Given the description of an element on the screen output the (x, y) to click on. 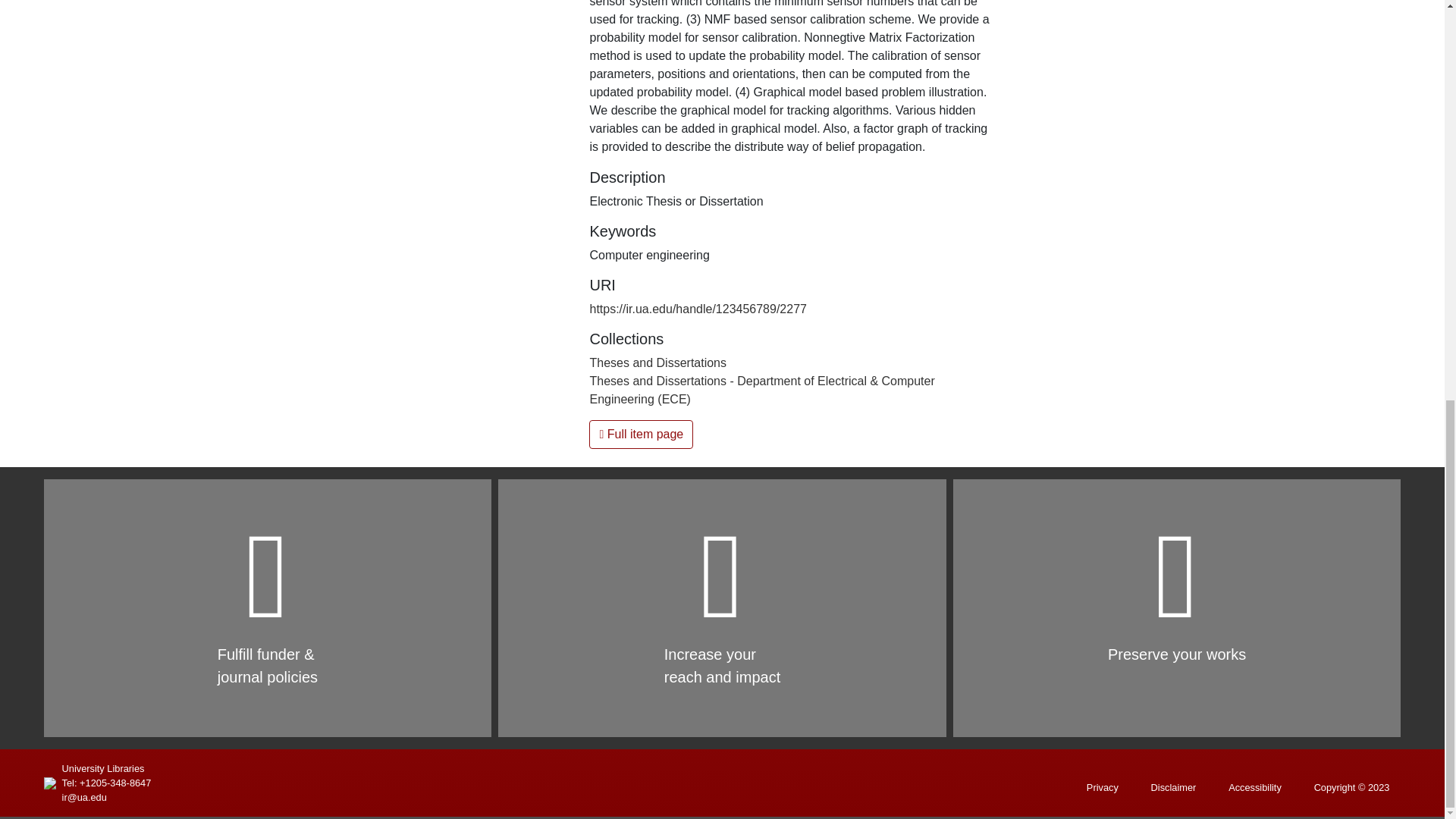
Accessibility (1254, 787)
Theses and Dissertations (657, 362)
Privacy (1102, 787)
Full item page (641, 434)
Disclaimer (1174, 787)
Disclaimer (1174, 787)
Privacy (1102, 787)
Accessibility (1254, 787)
Copyright (1351, 787)
University Libraries (103, 768)
